Given the description of an element on the screen output the (x, y) to click on. 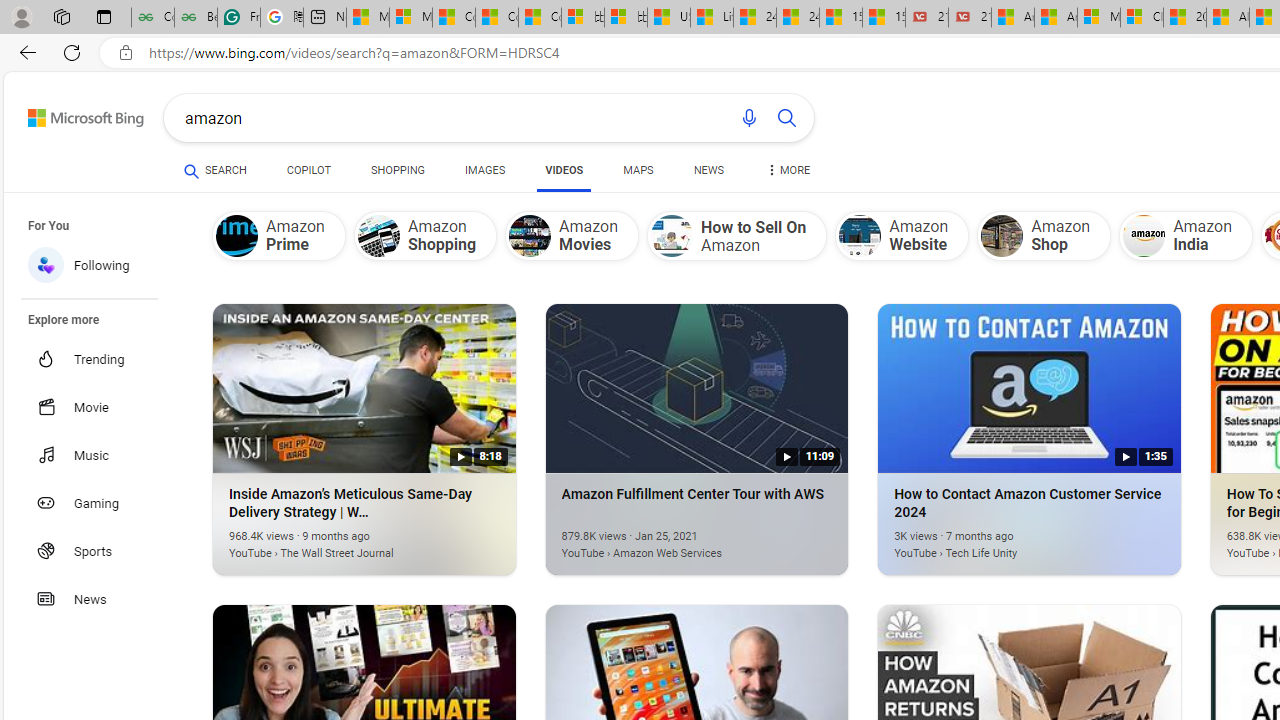
Back to Bing search (73, 113)
How to Contact Amazon Customer Service 2024 (999, 542)
SHOPPING (397, 170)
Best SSL Certificates Provider in India - GeeksforGeeks (196, 17)
Amazon Movies (530, 236)
Movie (99, 406)
Amazon Shopping (425, 235)
Music (99, 455)
MORE (787, 173)
